Given the description of an element on the screen output the (x, y) to click on. 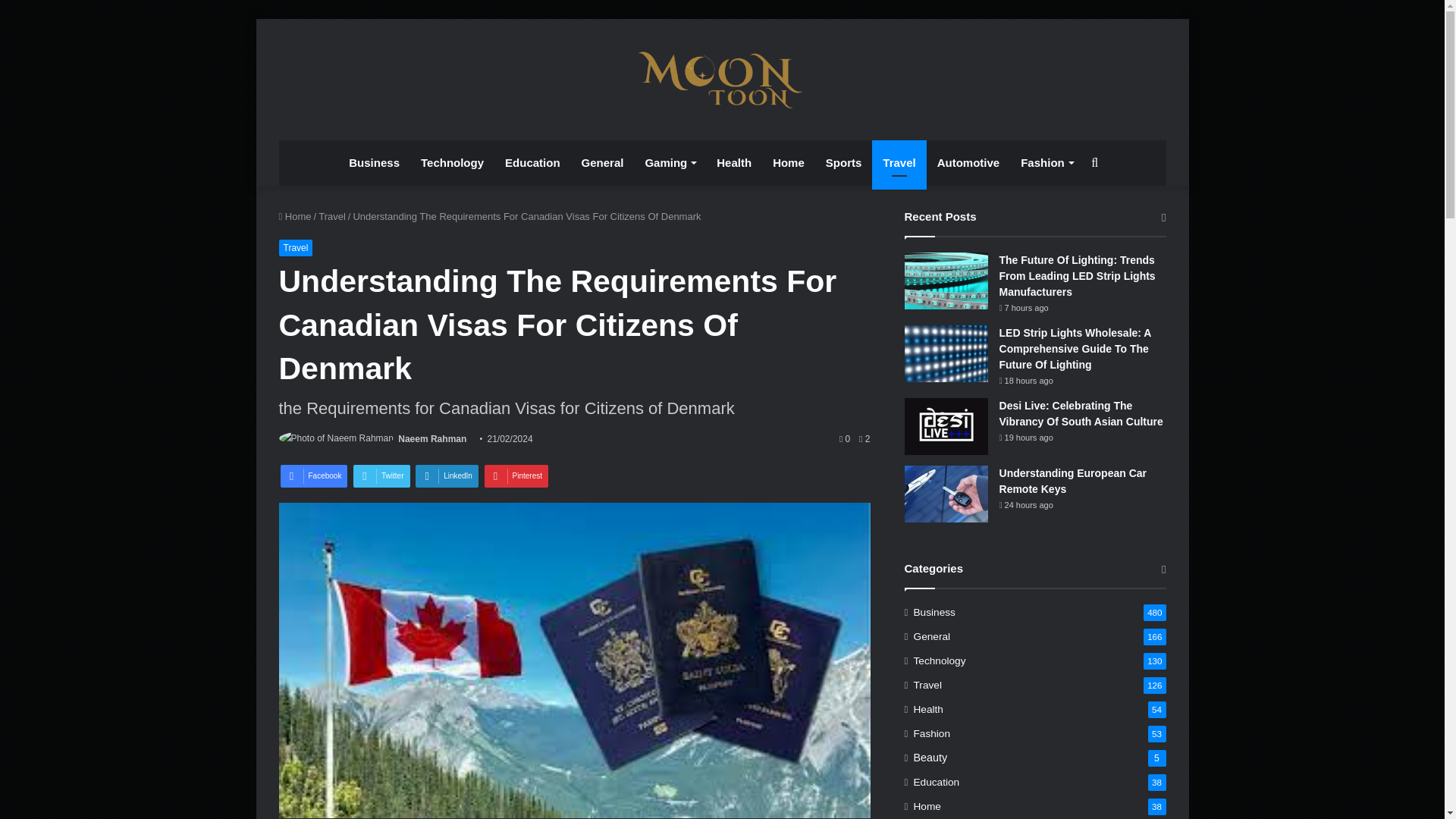
Travel (296, 247)
Automotive (968, 162)
Moontoon (721, 79)
Home (295, 215)
Naeem Rahman (431, 439)
Facebook (314, 476)
Twitter (381, 476)
Travel (332, 215)
LinkedIn (446, 476)
LinkedIn (446, 476)
Technology (452, 162)
Sports (843, 162)
Education (532, 162)
Naeem Rahman (431, 439)
Twitter (381, 476)
